Given the description of an element on the screen output the (x, y) to click on. 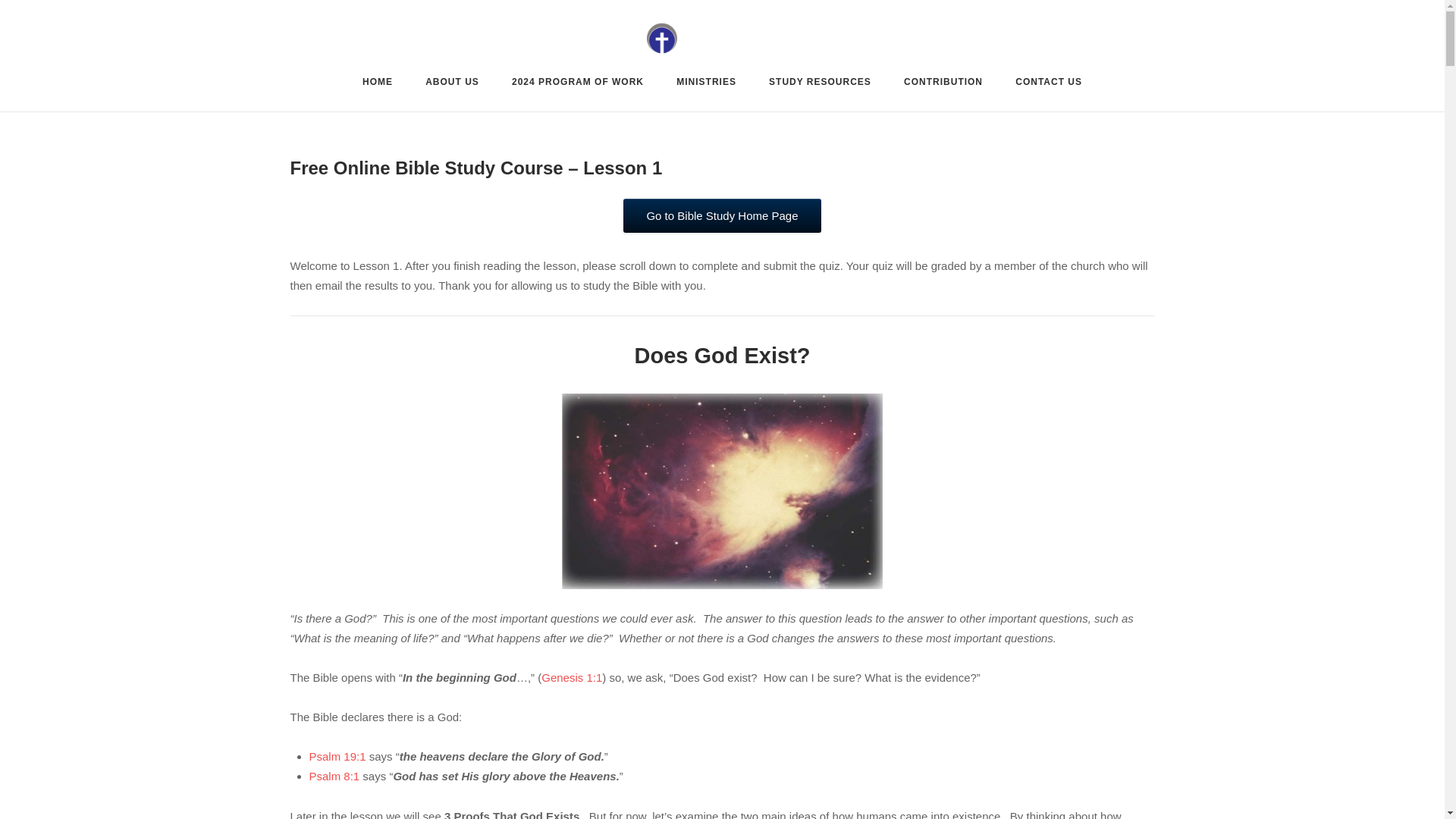
HOME (377, 84)
Go to Bible Study Home Page (722, 215)
CONTACT US (1047, 84)
2024 PROGRAM OF WORK (577, 84)
Psalm 19:1 (337, 756)
CONTRIBUTION (943, 84)
ABOUT US (452, 83)
STUDY RESOURCES (819, 83)
MINISTRIES (706, 83)
Psalm 8:1 (333, 775)
Genesis 1:1 (571, 676)
